Given the description of an element on the screen output the (x, y) to click on. 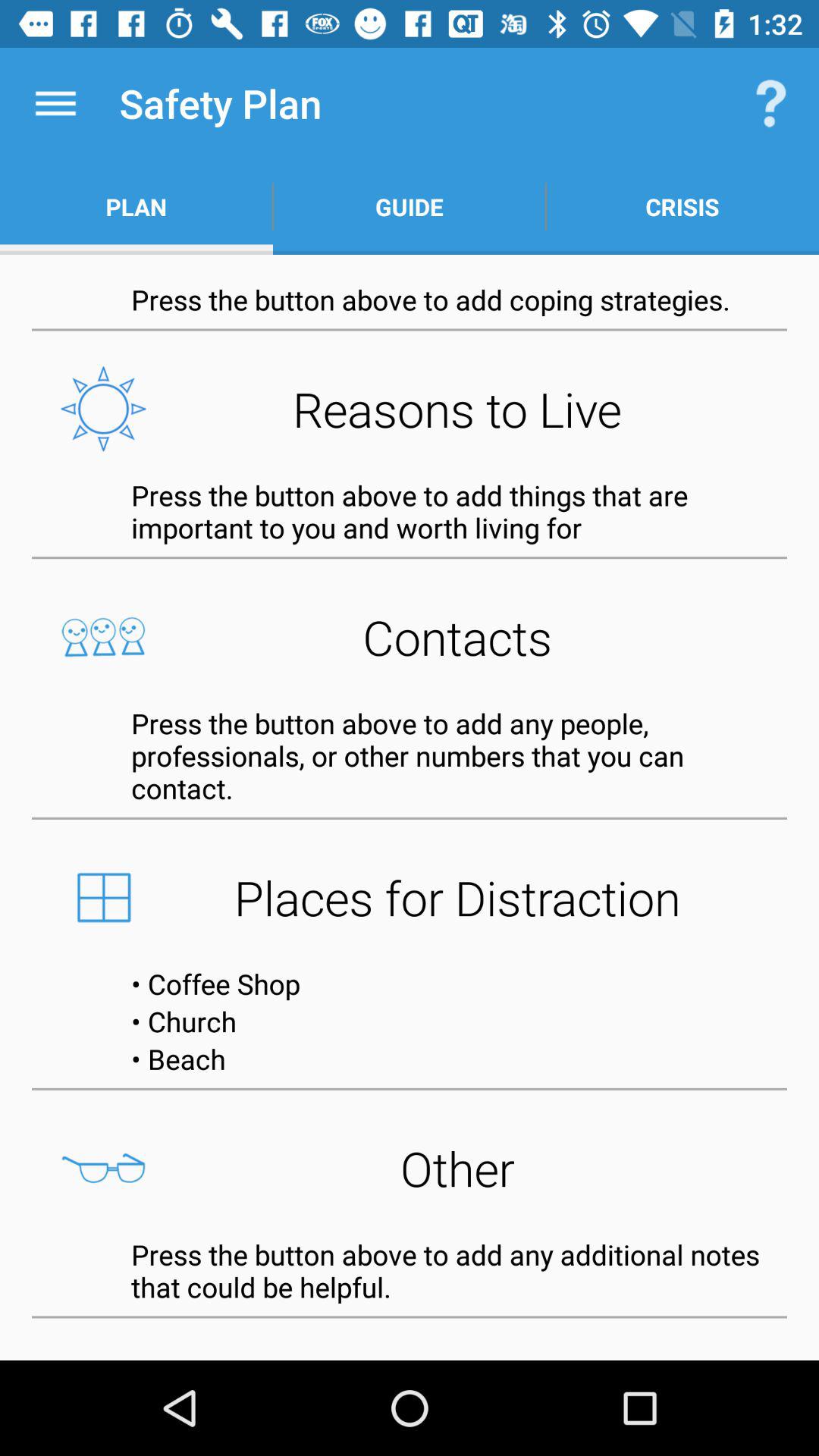
scroll until the contacts (409, 636)
